Given the description of an element on the screen output the (x, y) to click on. 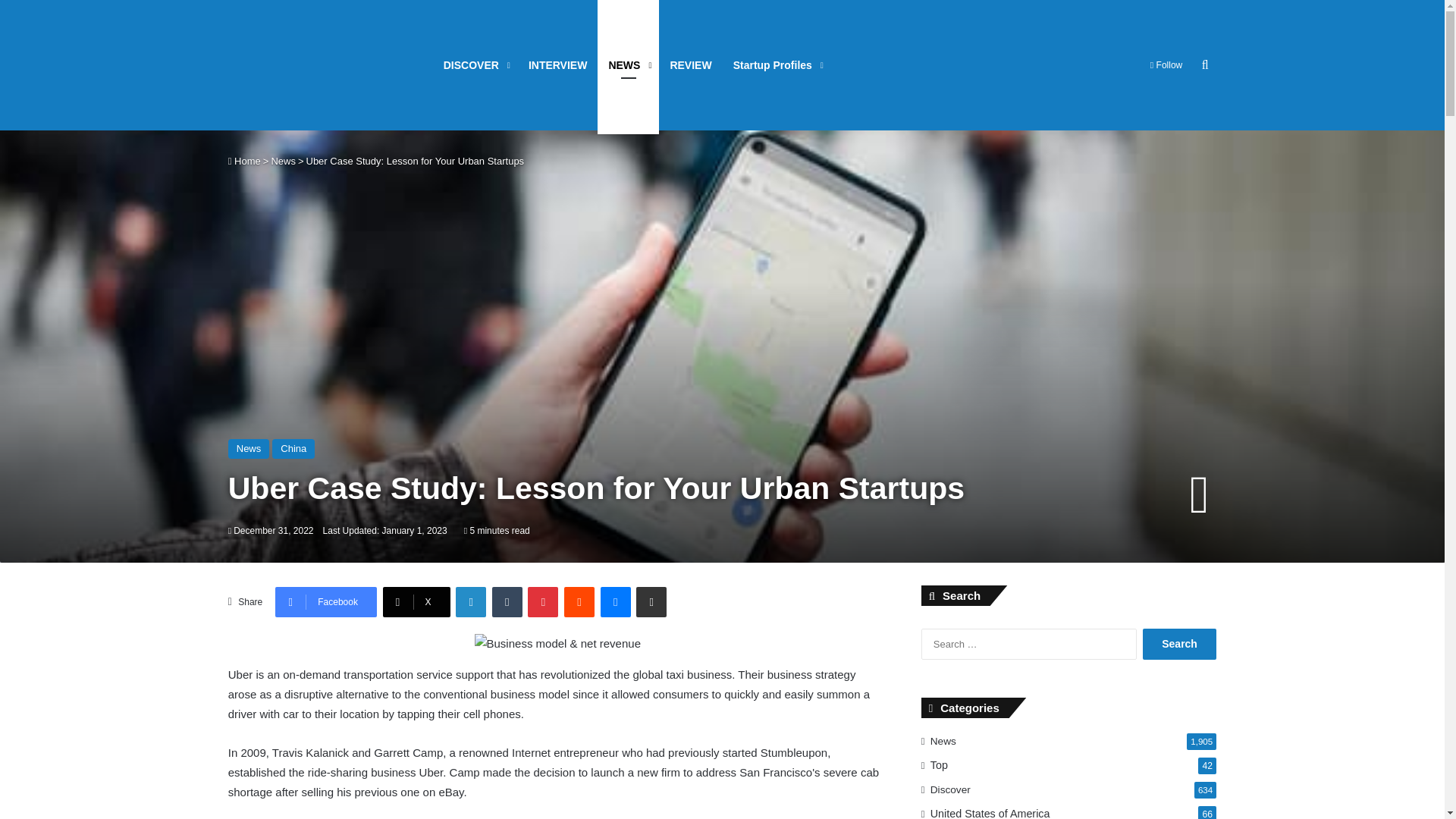
Facebook (326, 602)
Share via Email (651, 602)
LinkedIn (470, 602)
Tumblr (507, 602)
Share via Email (651, 602)
Search (1178, 644)
Reddit (579, 602)
Search (1178, 644)
Pinterest (542, 602)
Tumblr (507, 602)
